Given the description of an element on the screen output the (x, y) to click on. 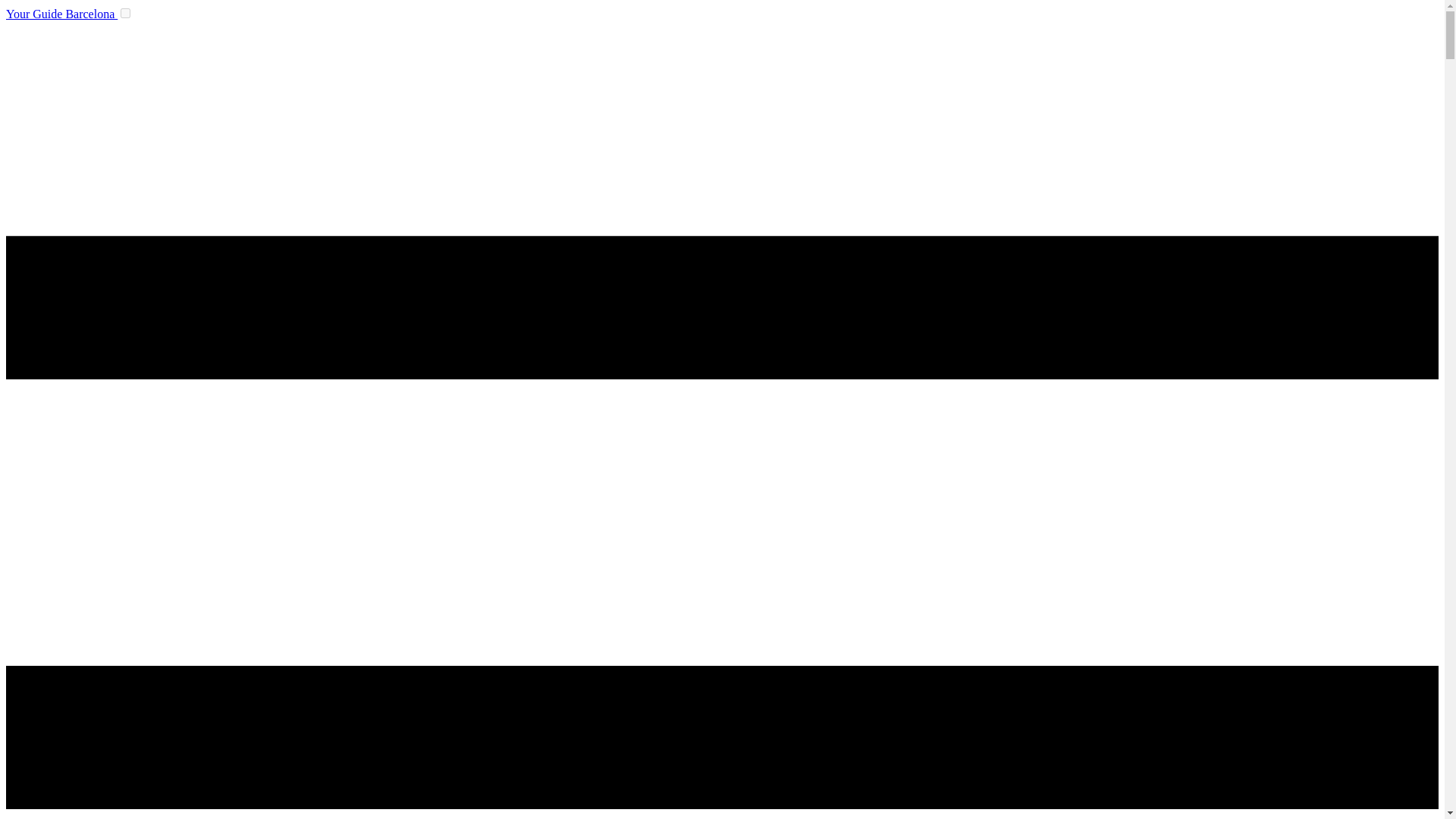
on (125, 13)
Your Guide Barcelona (61, 13)
